Given the description of an element on the screen output the (x, y) to click on. 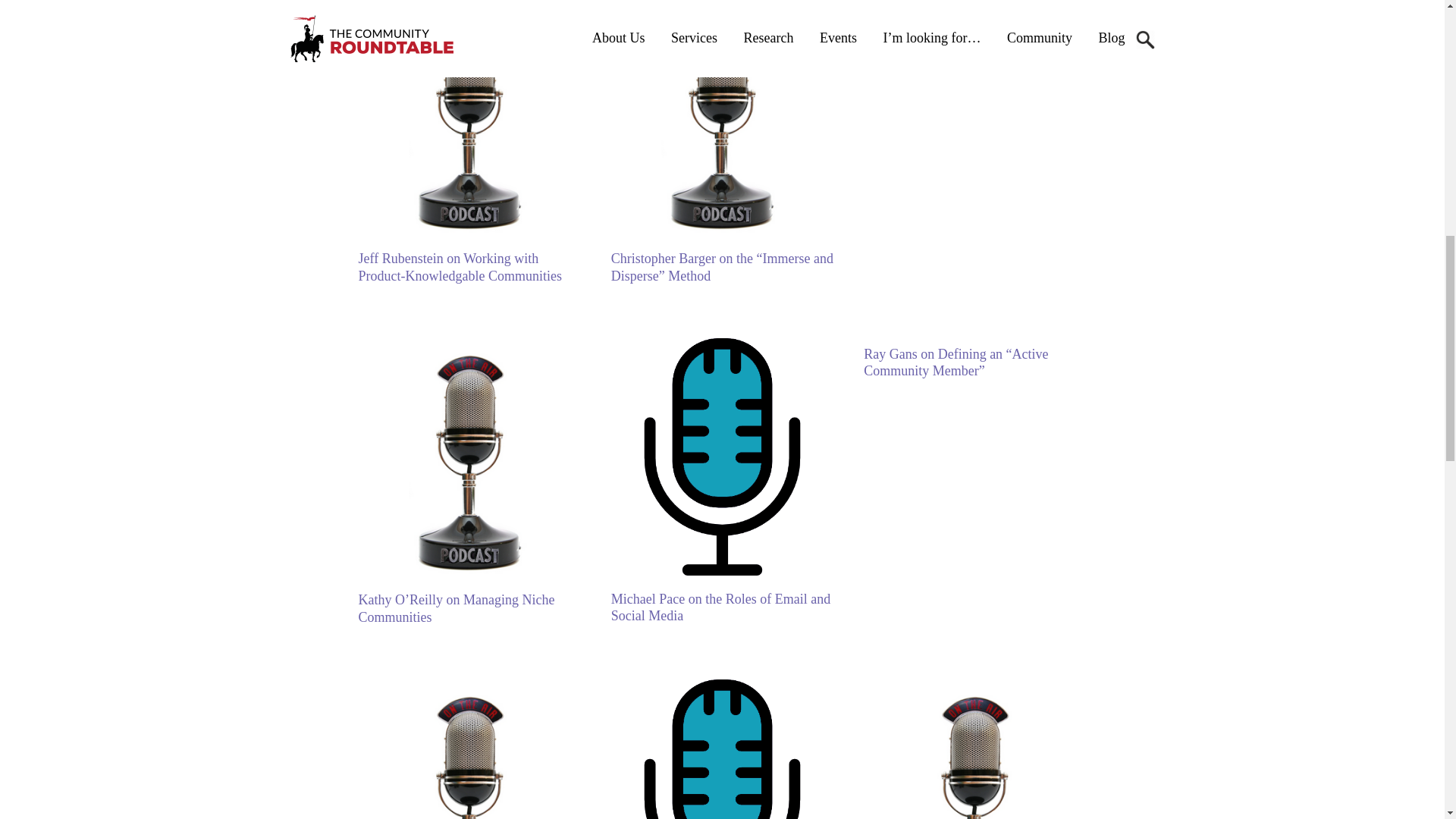
Michael Pace on the Roles of Email and Social Media (722, 570)
Megan Murray on Managing Multiple Internal Communities (967, 20)
Michael Pace on the Roles of Email and Social Media (720, 607)
